Given the description of an element on the screen output the (x, y) to click on. 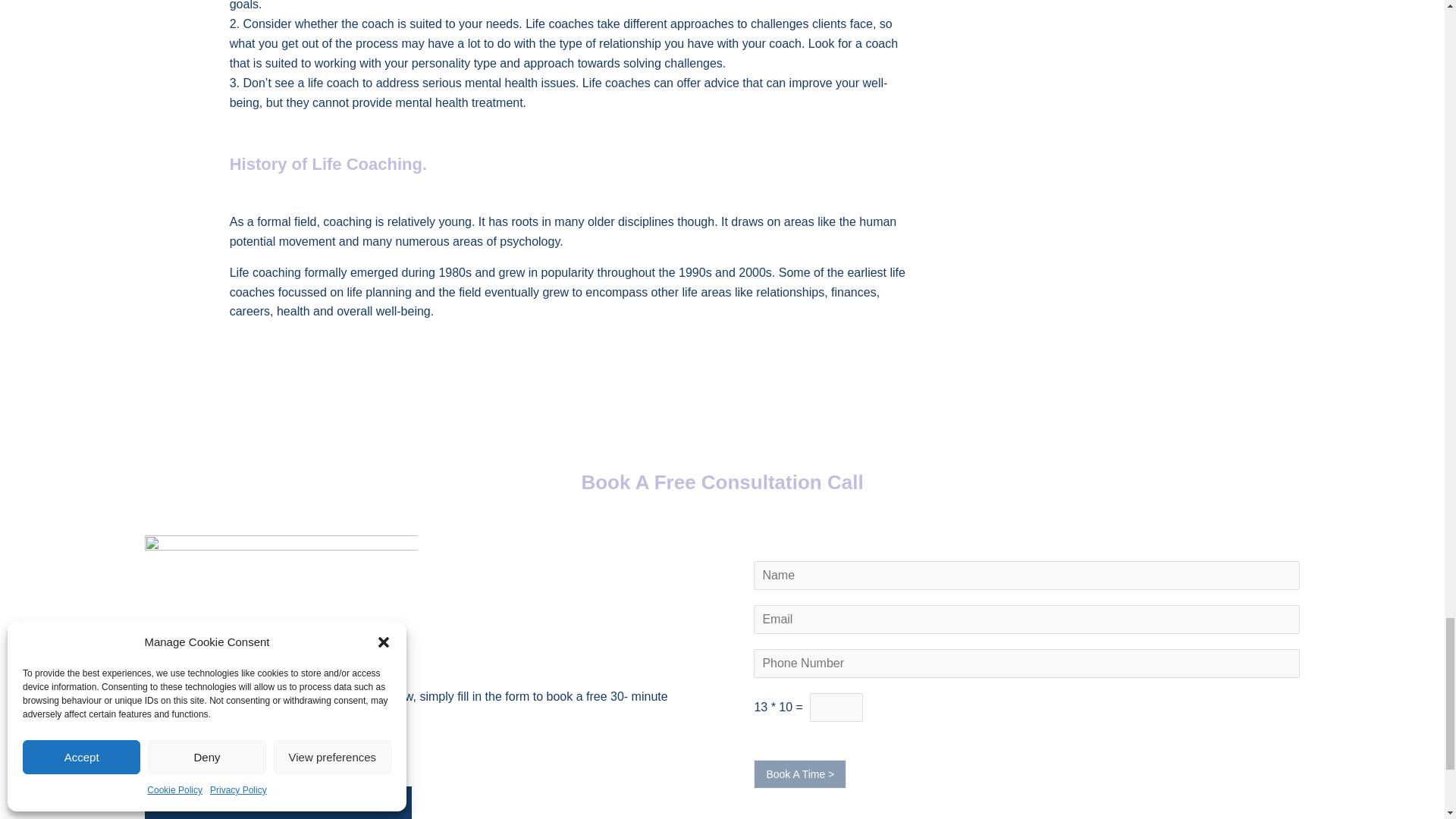
AC logo (280, 584)
07718 945 438 (290, 752)
Click here to book a suitable time (277, 802)
